Given the description of an element on the screen output the (x, y) to click on. 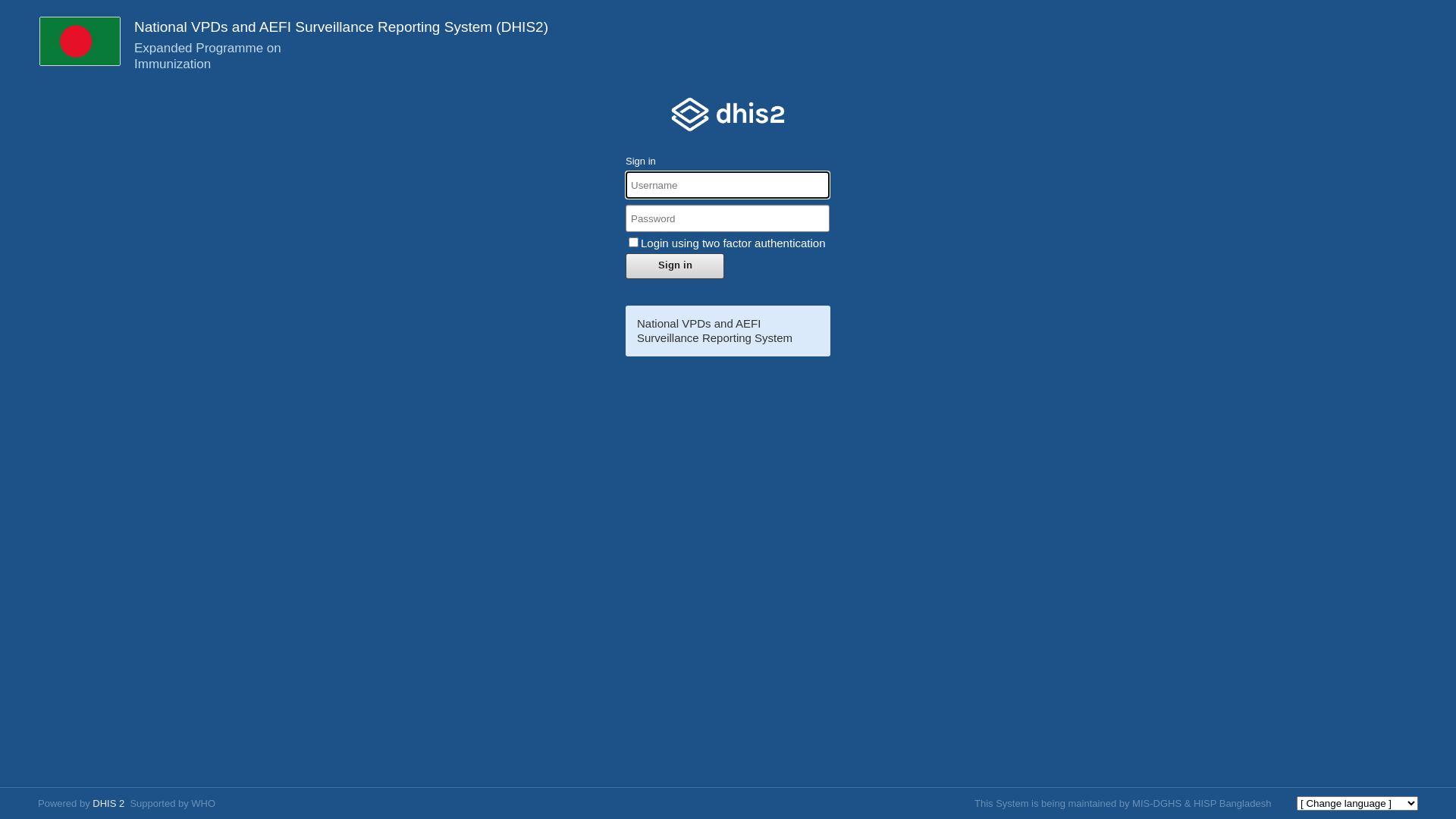
Sign in Element type: text (674, 266)
DHIS 2 Element type: text (108, 803)
